Given the description of an element on the screen output the (x, y) to click on. 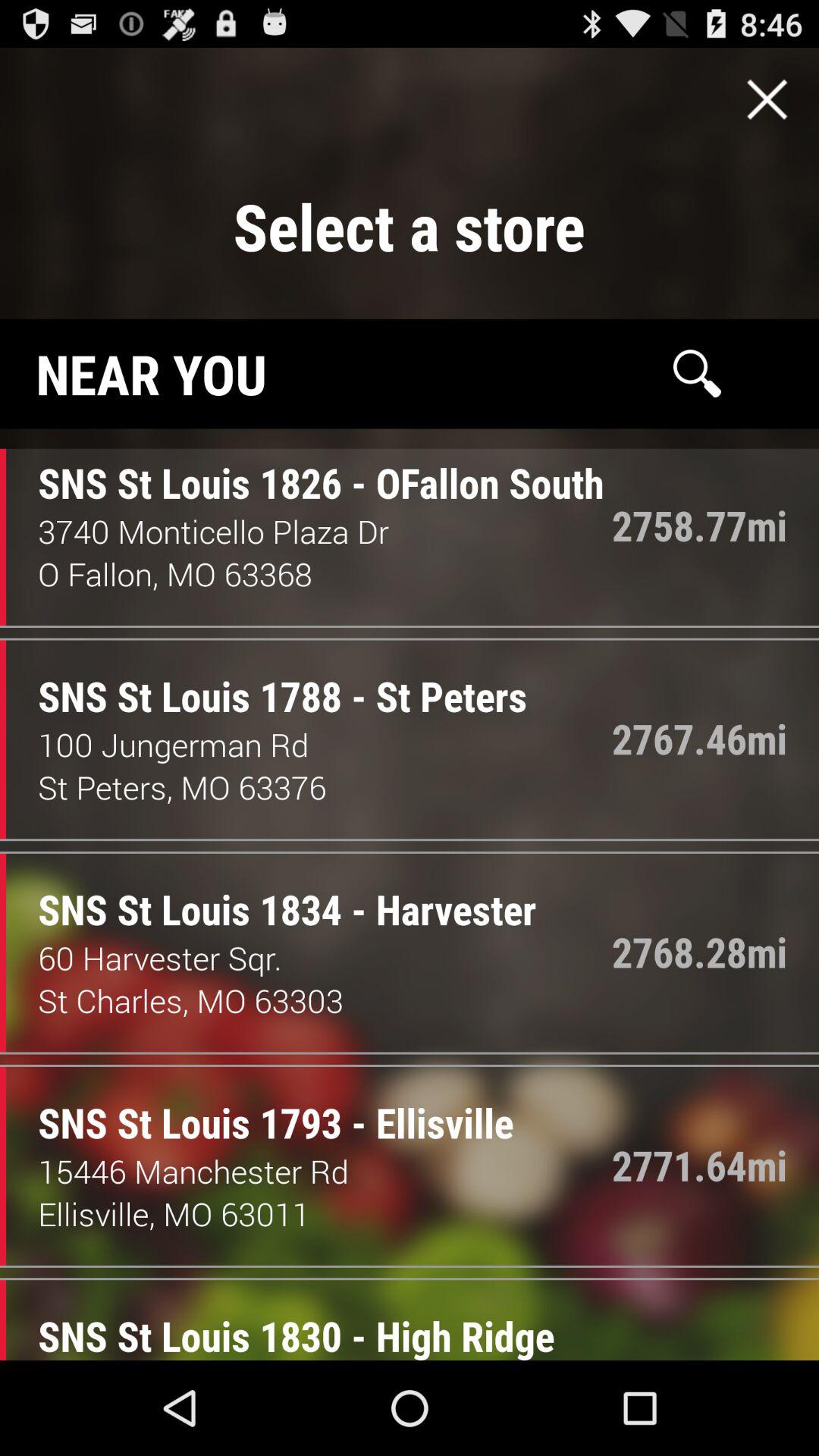
search bar (697, 373)
